Given the description of an element on the screen output the (x, y) to click on. 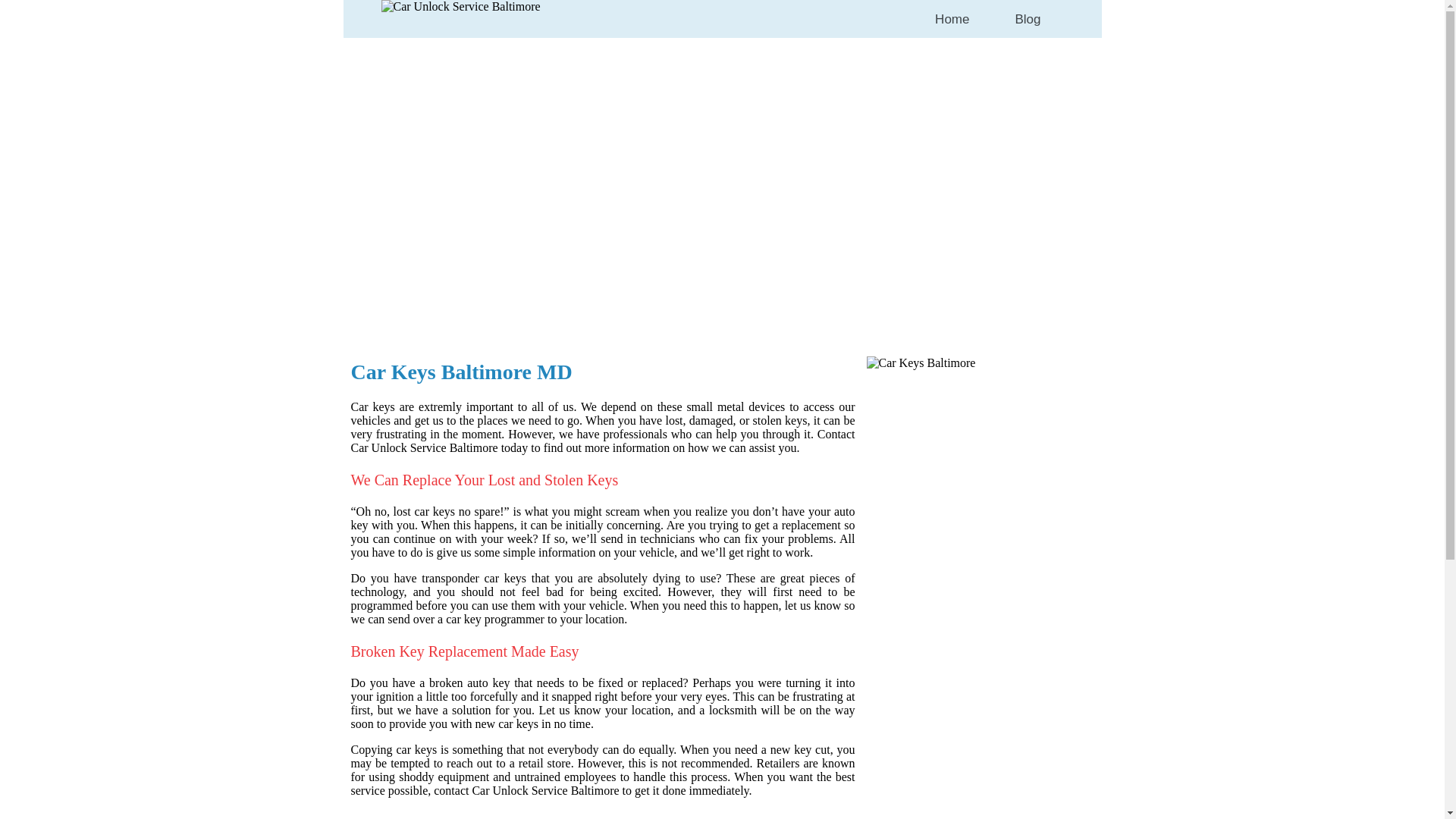
Blog (1027, 19)
Home (951, 18)
